Given the description of an element on the screen output the (x, y) to click on. 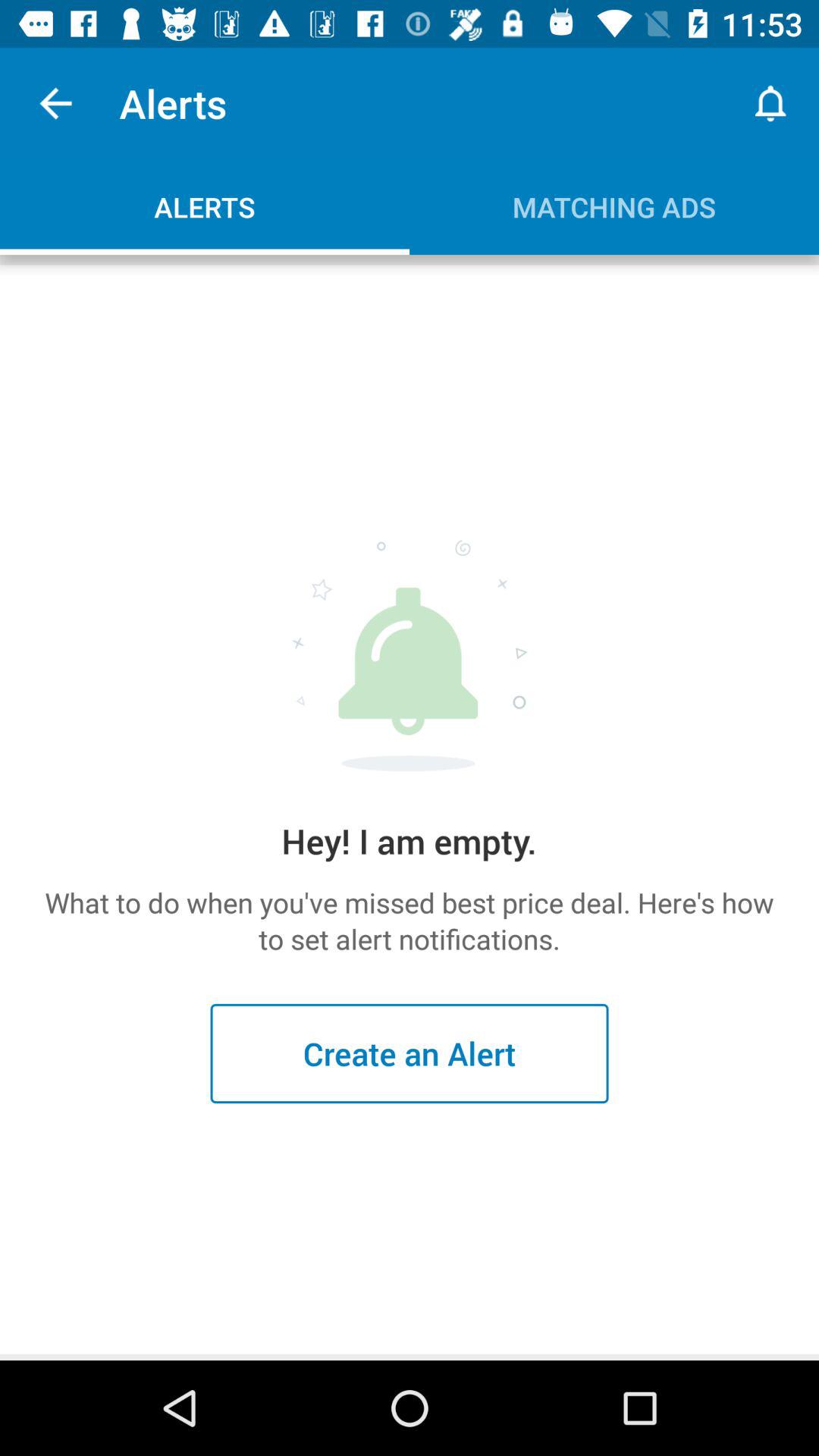
press the item to the left of the alerts icon (55, 103)
